Given the description of an element on the screen output the (x, y) to click on. 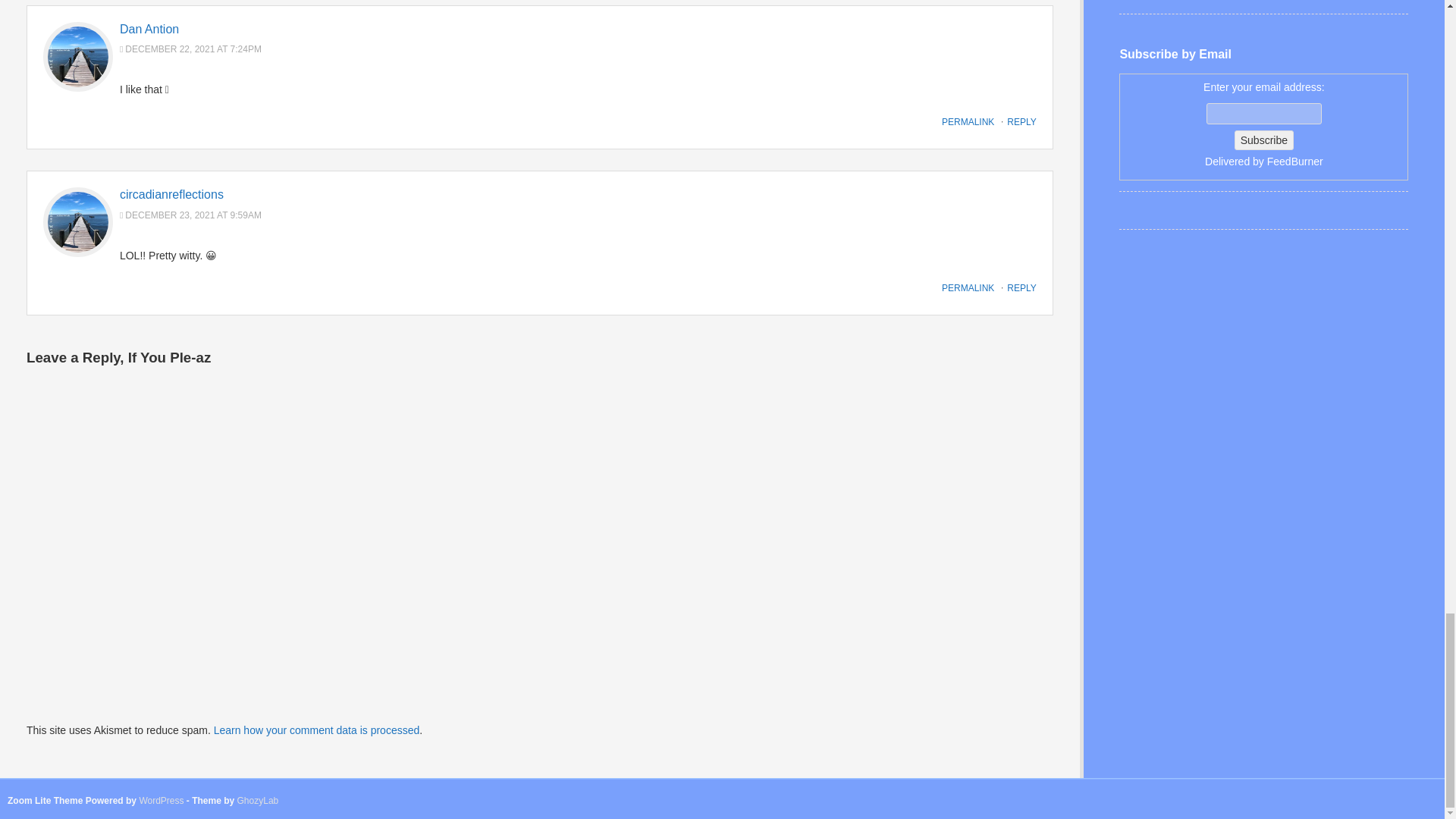
Subscribe (1264, 139)
